Given the description of an element on the screen output the (x, y) to click on. 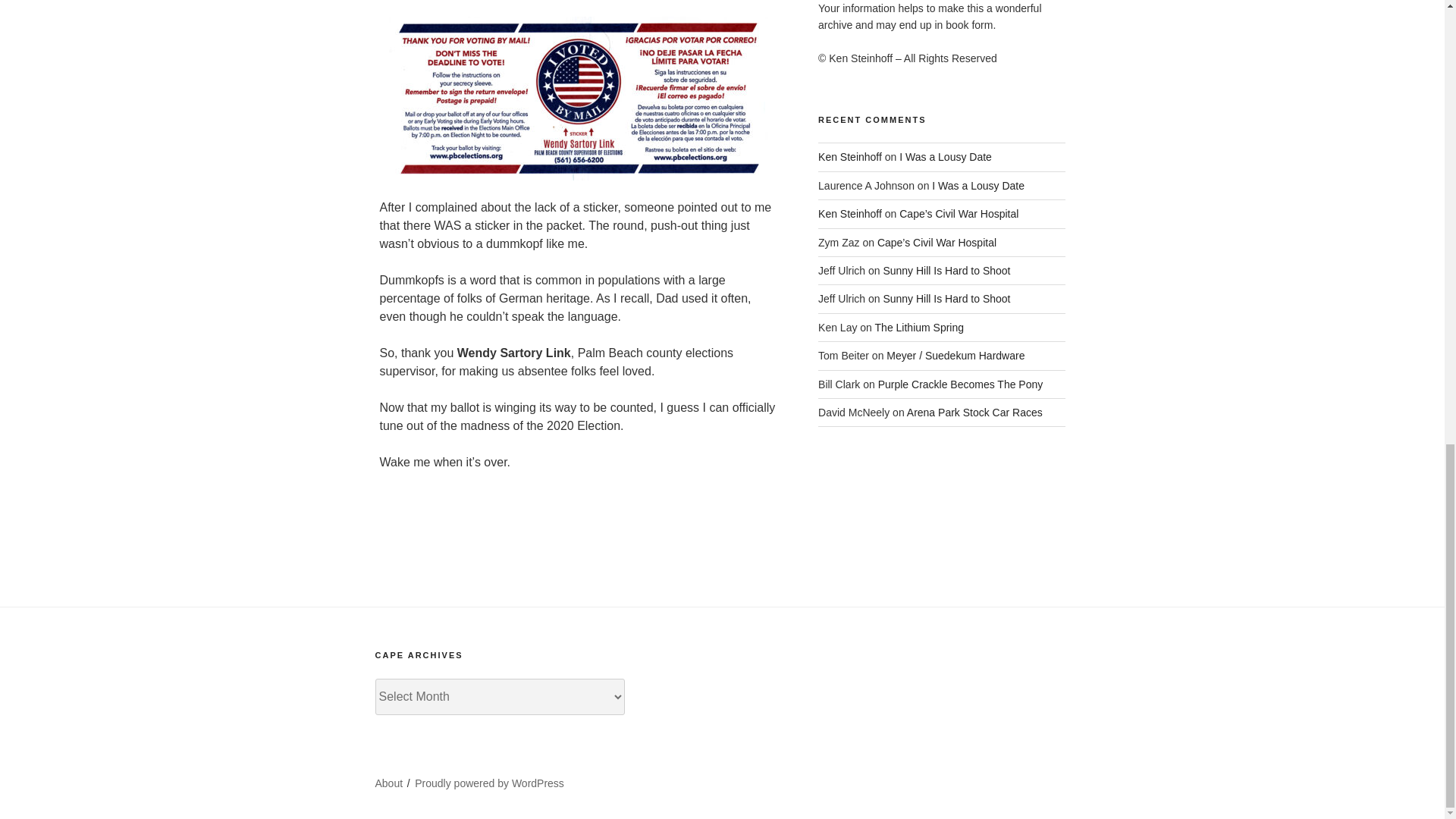
Ken Steinhoff (850, 214)
Purple Crackle Becomes The Pony (960, 384)
I Was a Lousy Date (945, 156)
Sunny Hill Is Hard to Shoot (946, 298)
Proudly powered by WordPress (489, 783)
I Was a Lousy Date (978, 185)
Sunny Hill Is Hard to Shoot (946, 270)
About (388, 783)
The Lithium Spring (919, 327)
Arena Park Stock Car Races (974, 412)
